Given the description of an element on the screen output the (x, y) to click on. 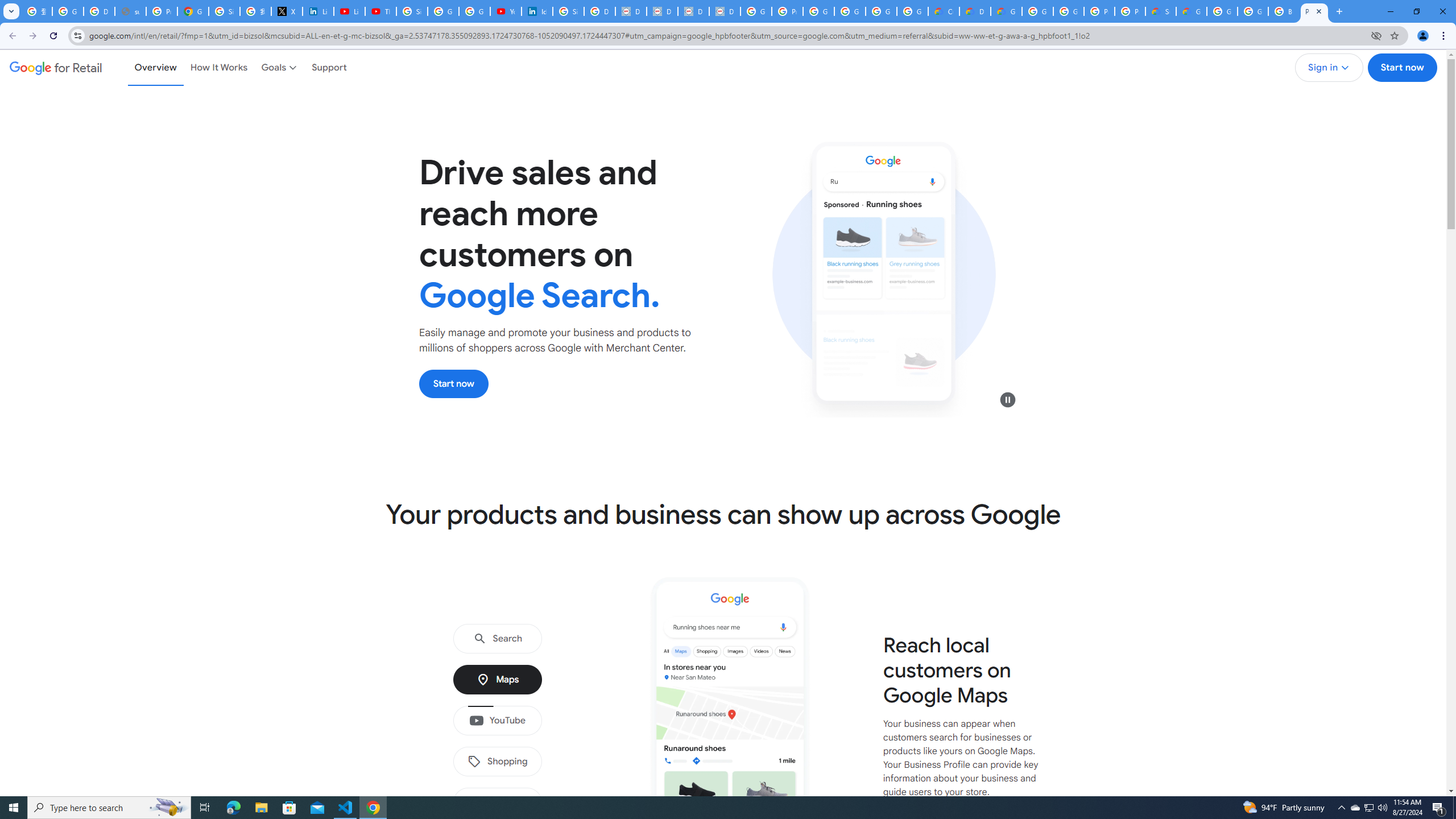
Data Privacy Framework (631, 11)
Data Privacy Framework (693, 11)
Shopping (496, 761)
Google Workspace - Specific Terms (881, 11)
Sign in - Google Accounts (223, 11)
LinkedIn Privacy Policy (318, 11)
Google for Retail (55, 67)
